Given the description of an element on the screen output the (x, y) to click on. 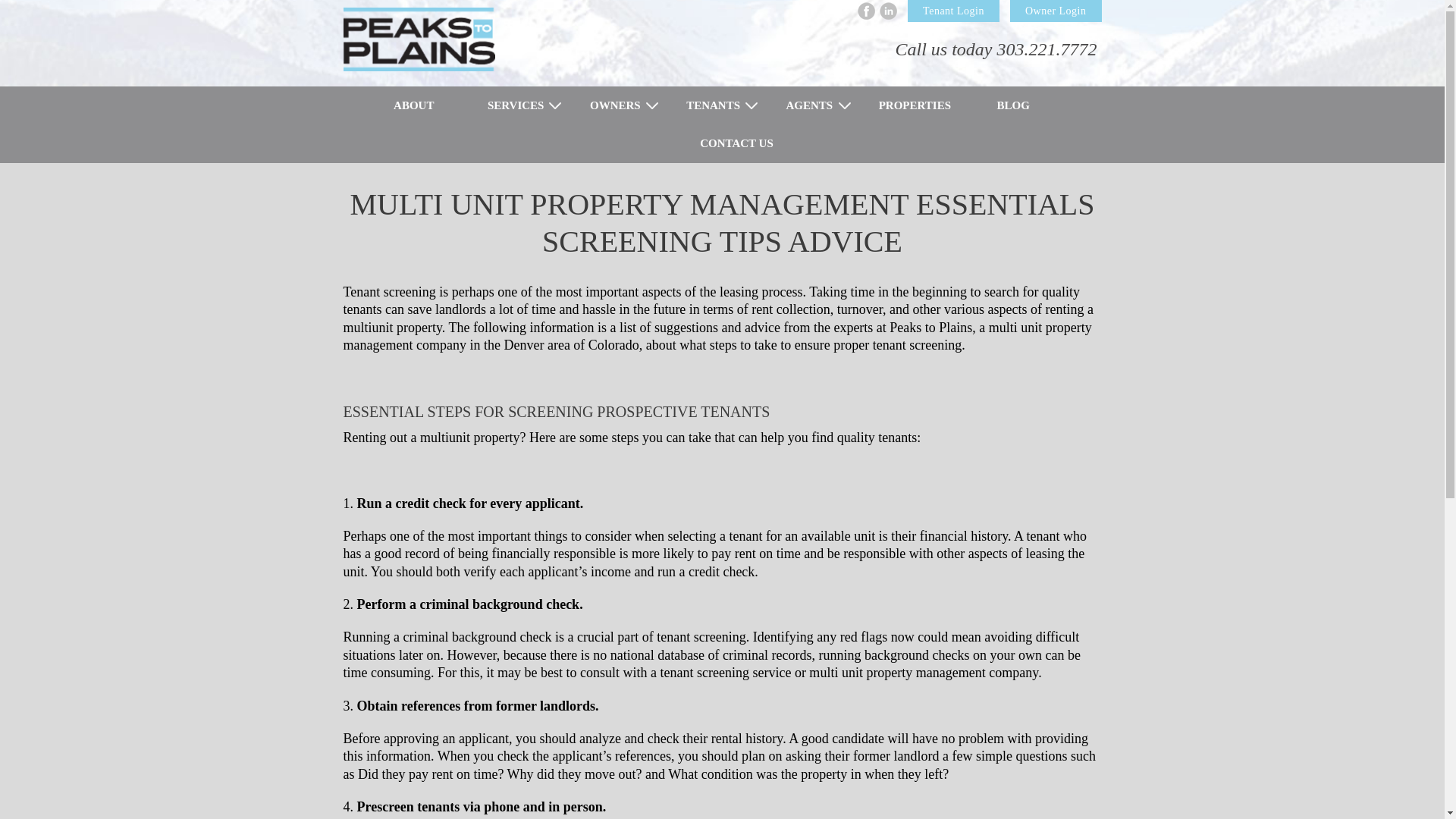
303.221.7772 (1045, 48)
AGENTS (809, 105)
Owner Login (1056, 11)
Tenant Login (952, 11)
TENANTS (713, 105)
SERVICES (515, 105)
ABOUT (428, 105)
OWNERS (615, 105)
BLOG (1013, 105)
CONTACT US (722, 143)
